Given the description of an element on the screen output the (x, y) to click on. 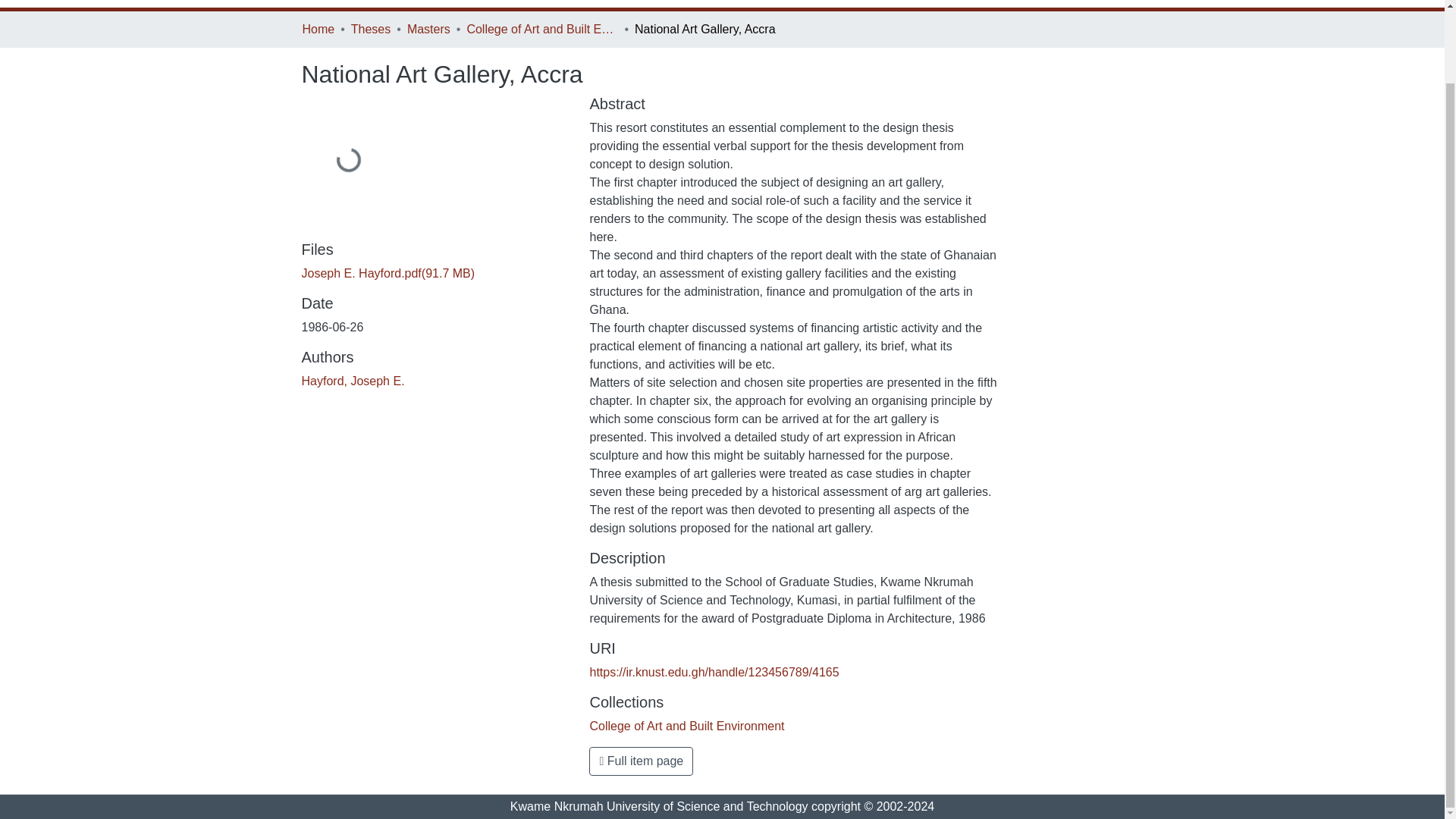
Hayford, Joseph E. (352, 380)
College of Art and Built Environment (541, 29)
College of Art and Built Environment (686, 725)
Home (317, 29)
Kwame Nkrumah University of Science and Technology (659, 806)
Full item page (641, 760)
Masters (428, 29)
Theses (370, 29)
